Given the description of an element on the screen output the (x, y) to click on. 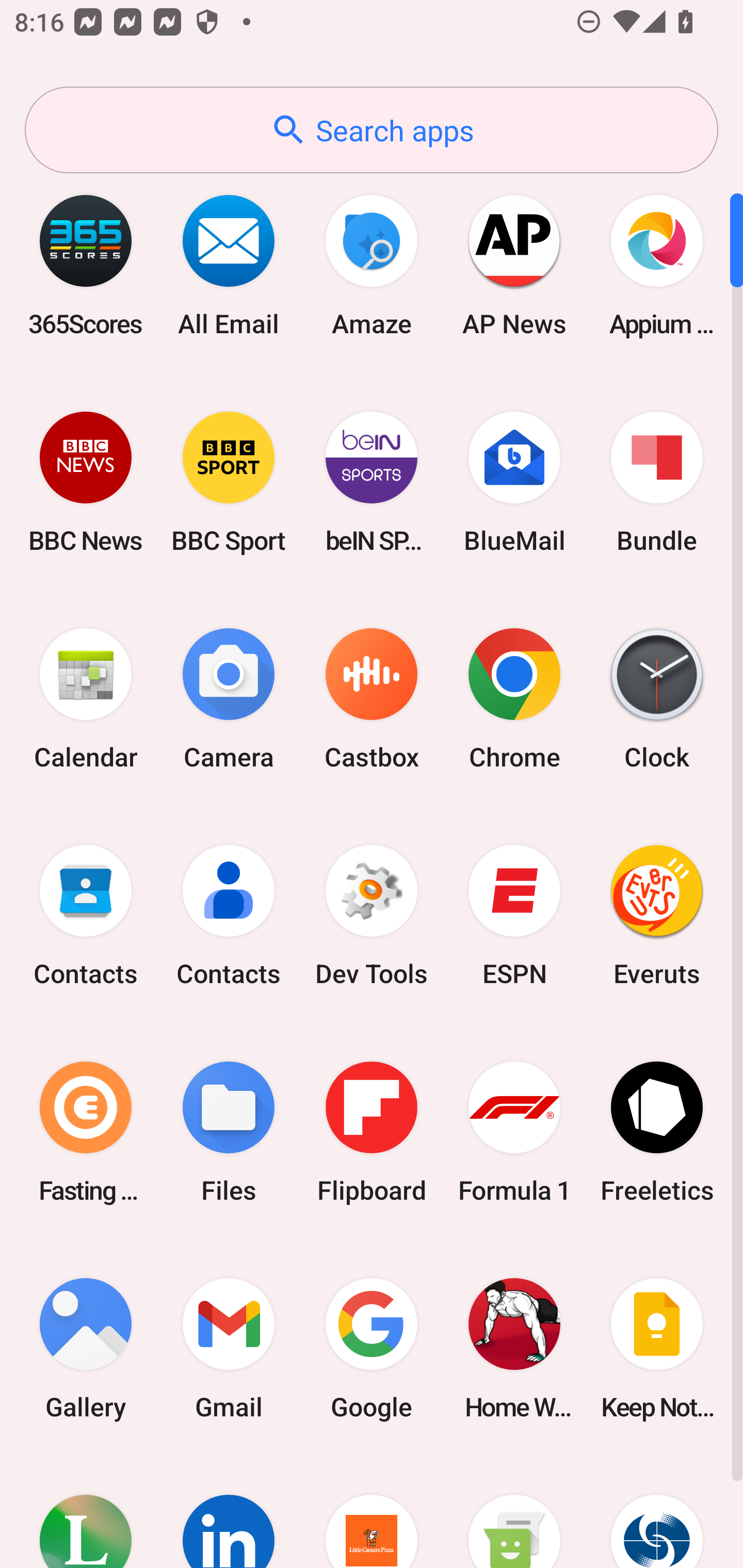
  Search apps (371, 130)
365Scores (85, 264)
All Email (228, 264)
Amaze (371, 264)
AP News (514, 264)
Appium Settings (656, 264)
BBC News (85, 482)
BBC Sport (228, 482)
beIN SPORTS (371, 482)
BlueMail (514, 482)
Bundle (656, 482)
Calendar (85, 699)
Camera (228, 699)
Castbox (371, 699)
Chrome (514, 699)
Clock (656, 699)
Contacts (85, 915)
Contacts (228, 915)
Dev Tools (371, 915)
ESPN (514, 915)
Everuts (656, 915)
Fasting Coach (85, 1131)
Files (228, 1131)
Flipboard (371, 1131)
Formula 1 (514, 1131)
Freeletics (656, 1131)
Gallery (85, 1348)
Gmail (228, 1348)
Google (371, 1348)
Home Workout (514, 1348)
Keep Notes (656, 1348)
